Given the description of an element on the screen output the (x, y) to click on. 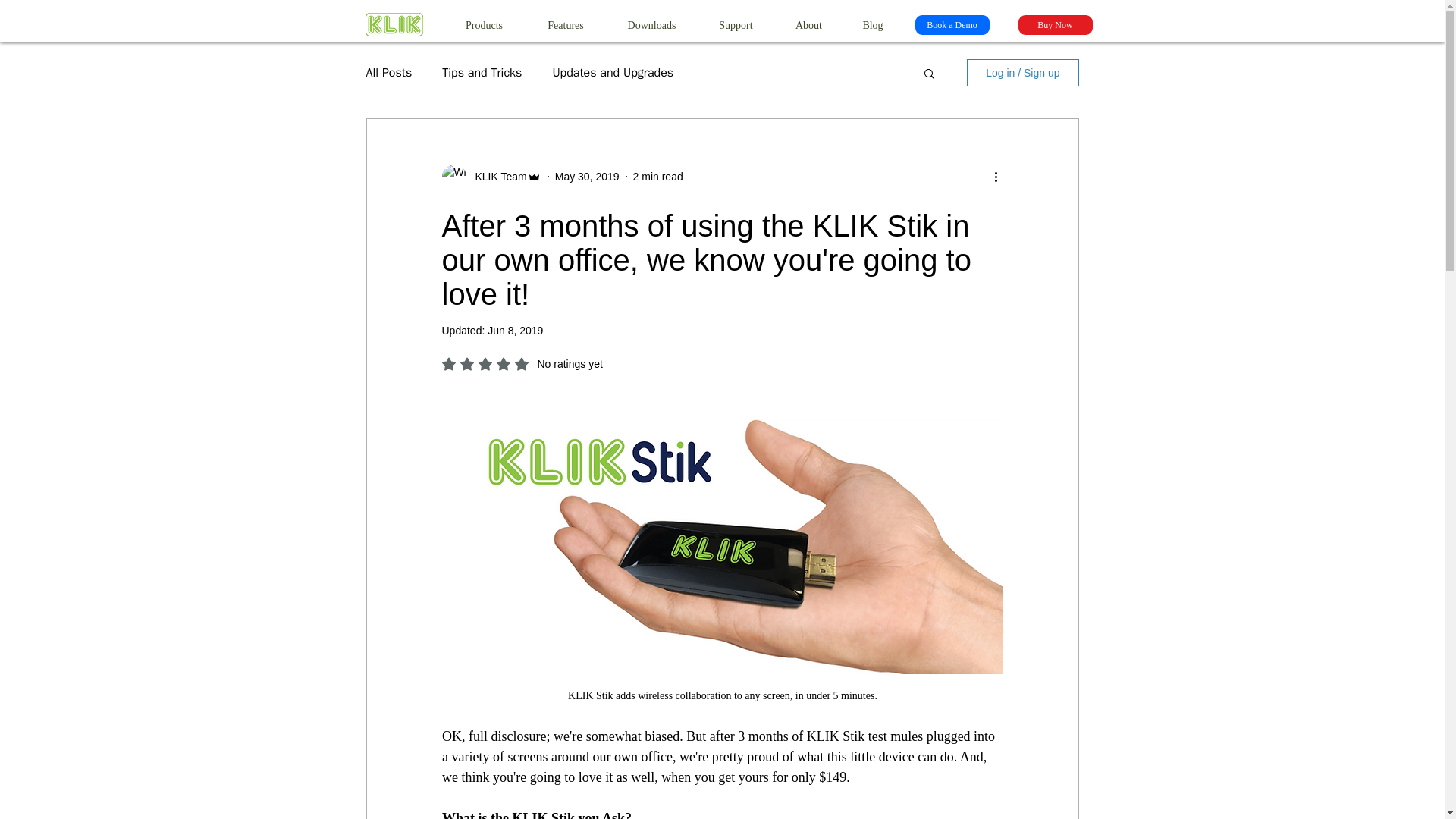
2 min read (657, 175)
About (808, 25)
KLIK Team (495, 176)
Support (735, 25)
May 30, 2019 (587, 175)
Blog (872, 25)
Book a Demo (951, 25)
Products (483, 25)
All Posts (388, 73)
